Given the description of an element on the screen output the (x, y) to click on. 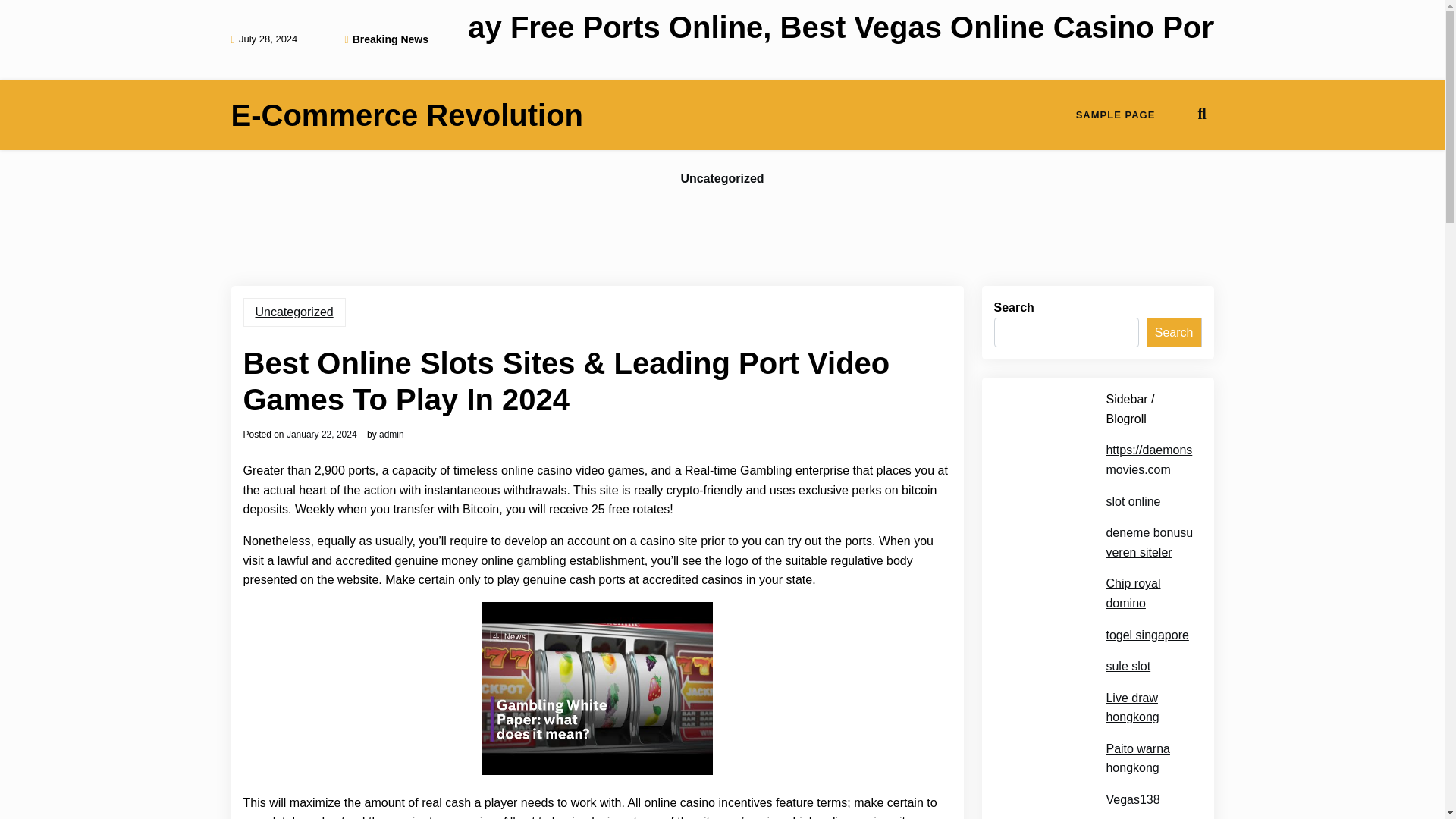
January 22, 2024 (321, 433)
Paito warna hongkong (1148, 758)
Search (1174, 332)
Chip royal domino (1148, 593)
Vegas138 (1131, 799)
sule slot (1127, 666)
deneme bonusu veren siteler (1148, 542)
E-Commerce Revolution (406, 115)
slot online (1132, 501)
admin (391, 433)
Live draw hongkong (1148, 707)
SAMPLE PAGE (1115, 115)
Uncategorized (722, 178)
Uncategorized (294, 312)
togel singapore (1146, 635)
